Given the description of an element on the screen output the (x, y) to click on. 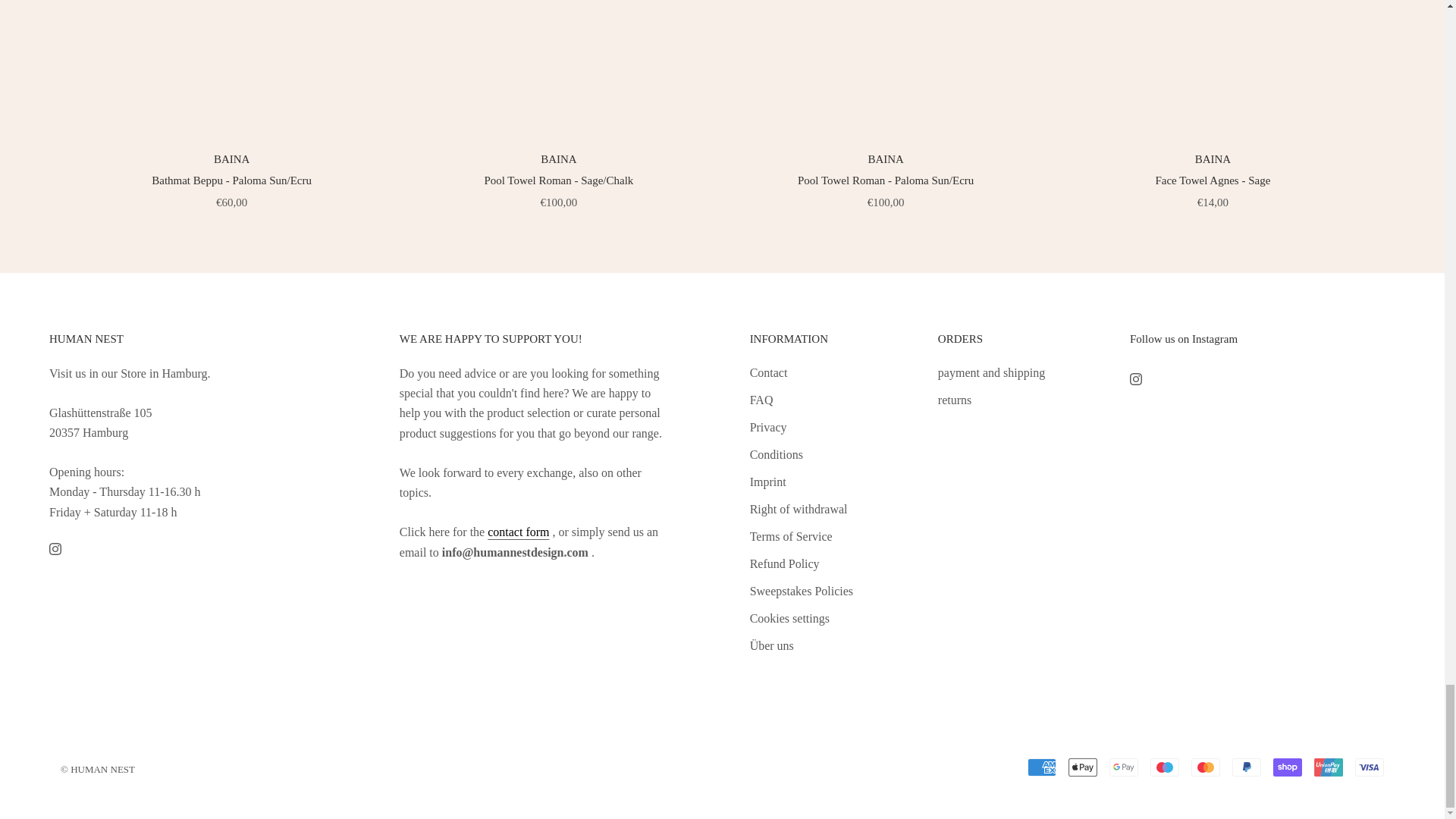
Google Pay (1123, 767)
Maestro (1164, 767)
American Express (1042, 767)
Apple Pay (1082, 767)
Contact (517, 531)
Mastercard (1205, 767)
